Given the description of an element on the screen output the (x, y) to click on. 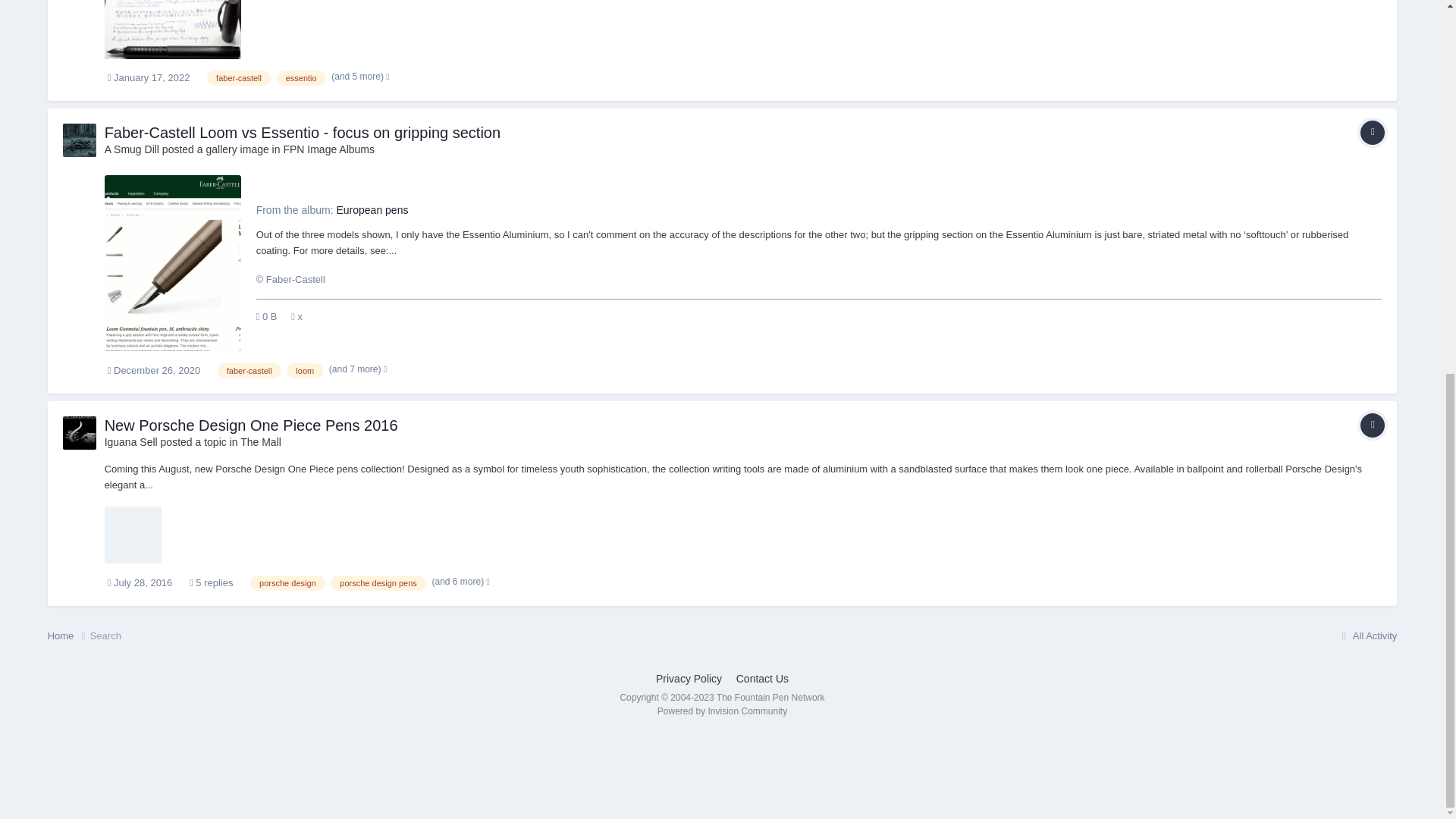
Find other content tagged with 'essentio' (301, 77)
Gallery Image (1371, 132)
File Size (267, 316)
Find other content tagged with 'faber-castell' (238, 77)
